Given the description of an element on the screen output the (x, y) to click on. 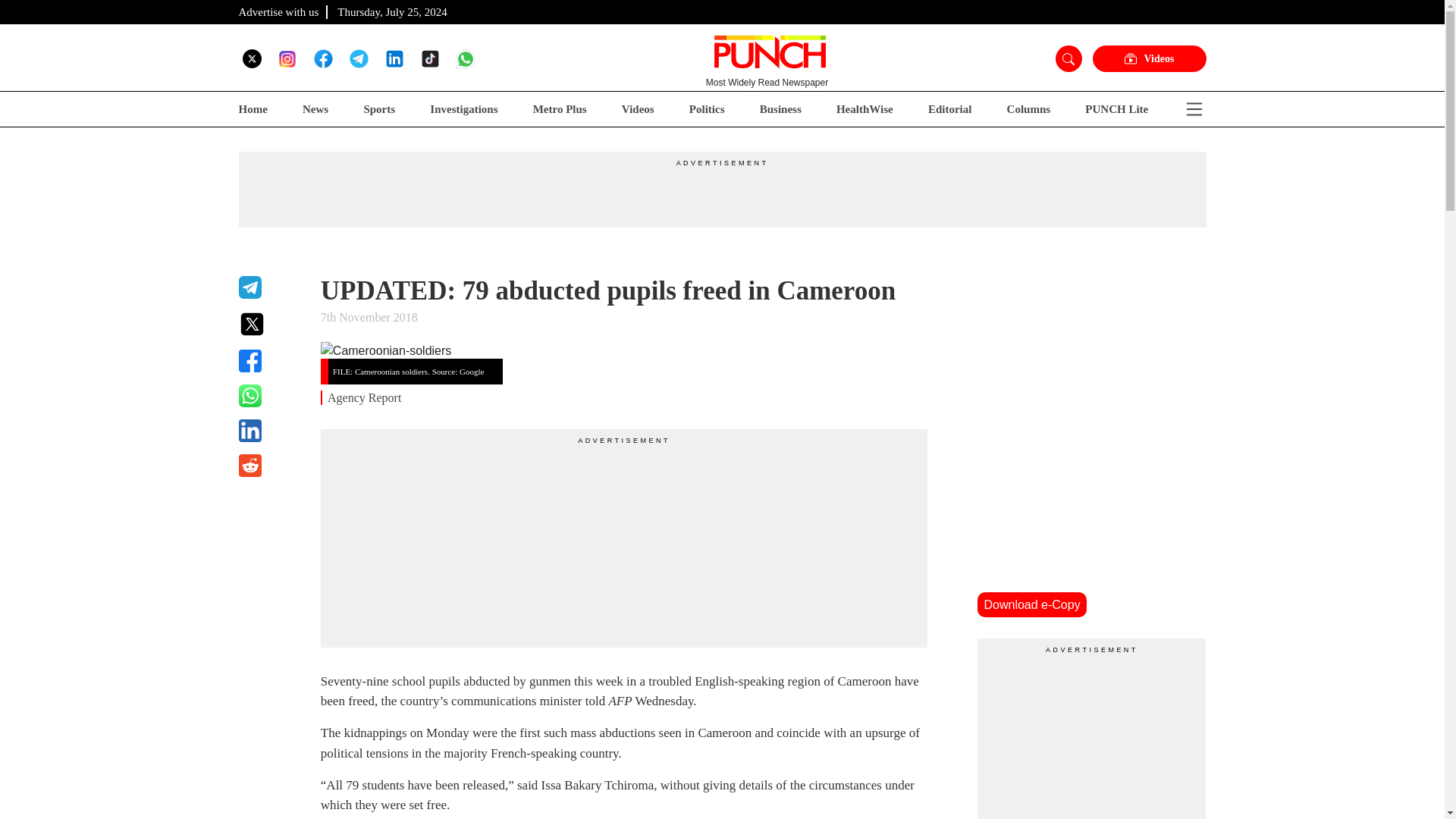
Share on Telegram (269, 287)
Share on Twitter (269, 324)
Metro Plus (559, 109)
Investigations (463, 109)
Share on Facbook (269, 360)
Thursday, July 25, 2024 (391, 11)
Share on Reddit (269, 465)
PUNCH Lite (1116, 109)
News (315, 109)
Editorial (950, 109)
Follow us on Tiktok (430, 58)
Follow us on our Whatsapp Channel (465, 57)
Follow us on Linkedin (395, 58)
Follow Us on X (252, 58)
Business (781, 109)
